Given the description of an element on the screen output the (x, y) to click on. 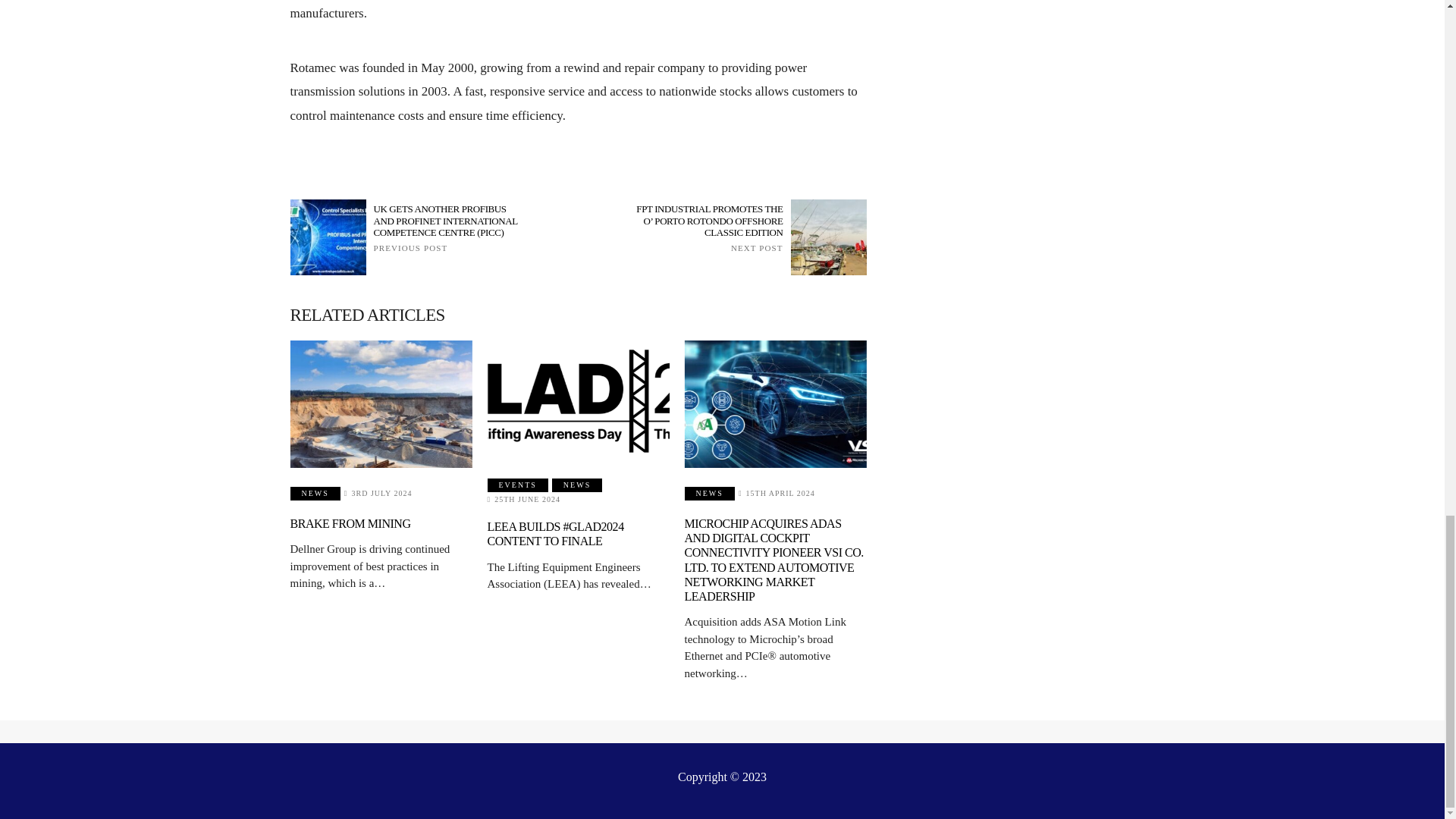
NEWS (314, 493)
EVENTS (517, 485)
Brake from Mining (380, 403)
BRAKE FROM MINING (349, 522)
